Given the description of an element on the screen output the (x, y) to click on. 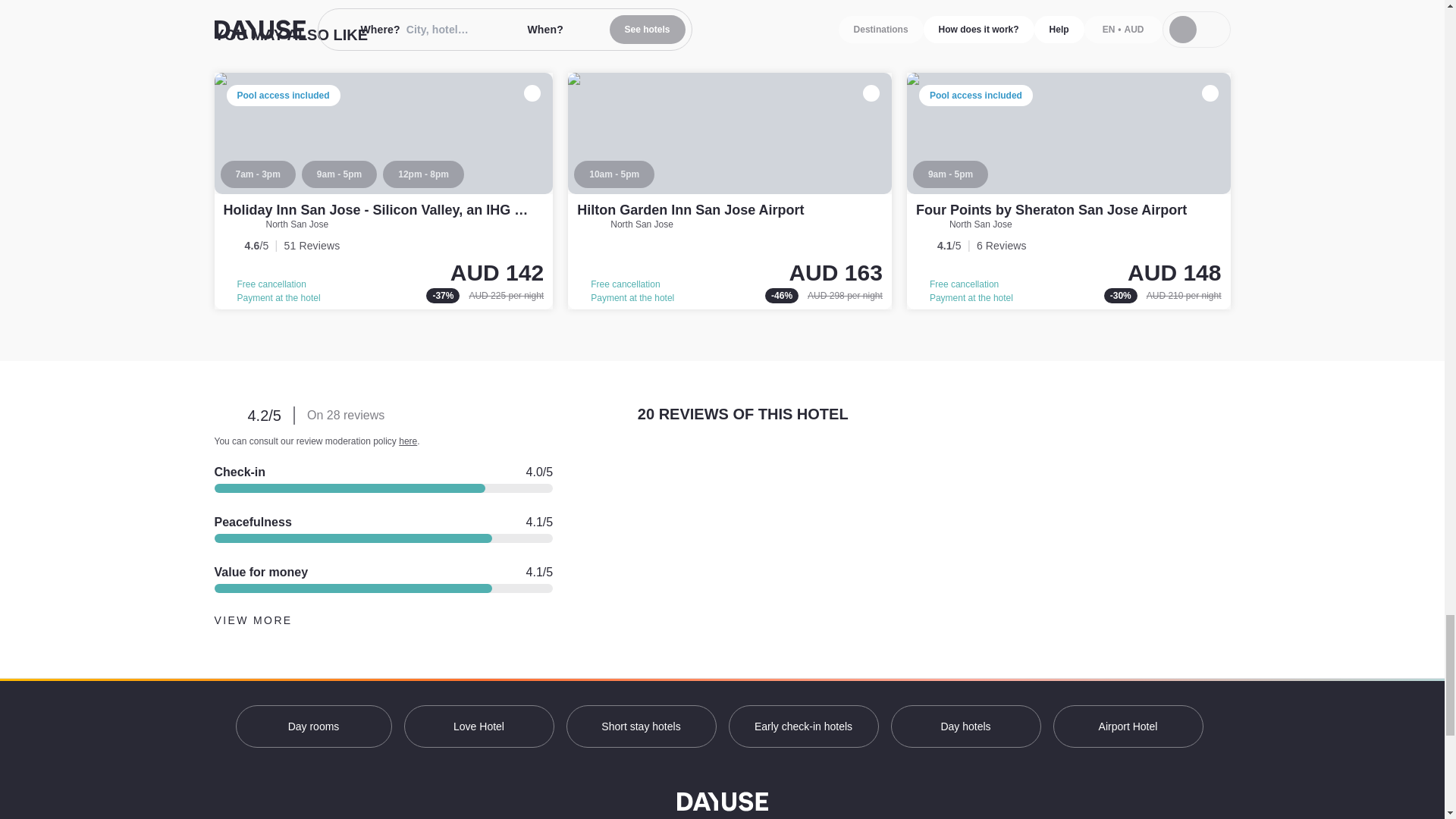
Four Points by Sheraton San Jose Airport (1068, 190)
Holiday Inn San Jose - Silicon Valley, an IHG Hotel (385, 209)
Holiday Inn San Jose - Silicon Valley, an IHG Hotel (383, 190)
Four Points by Sheraton San Jose Airport (1050, 209)
Hilton Garden Inn San Jose Airport (689, 209)
Hilton Garden Inn San Jose Airport (729, 190)
